Given the description of an element on the screen output the (x, y) to click on. 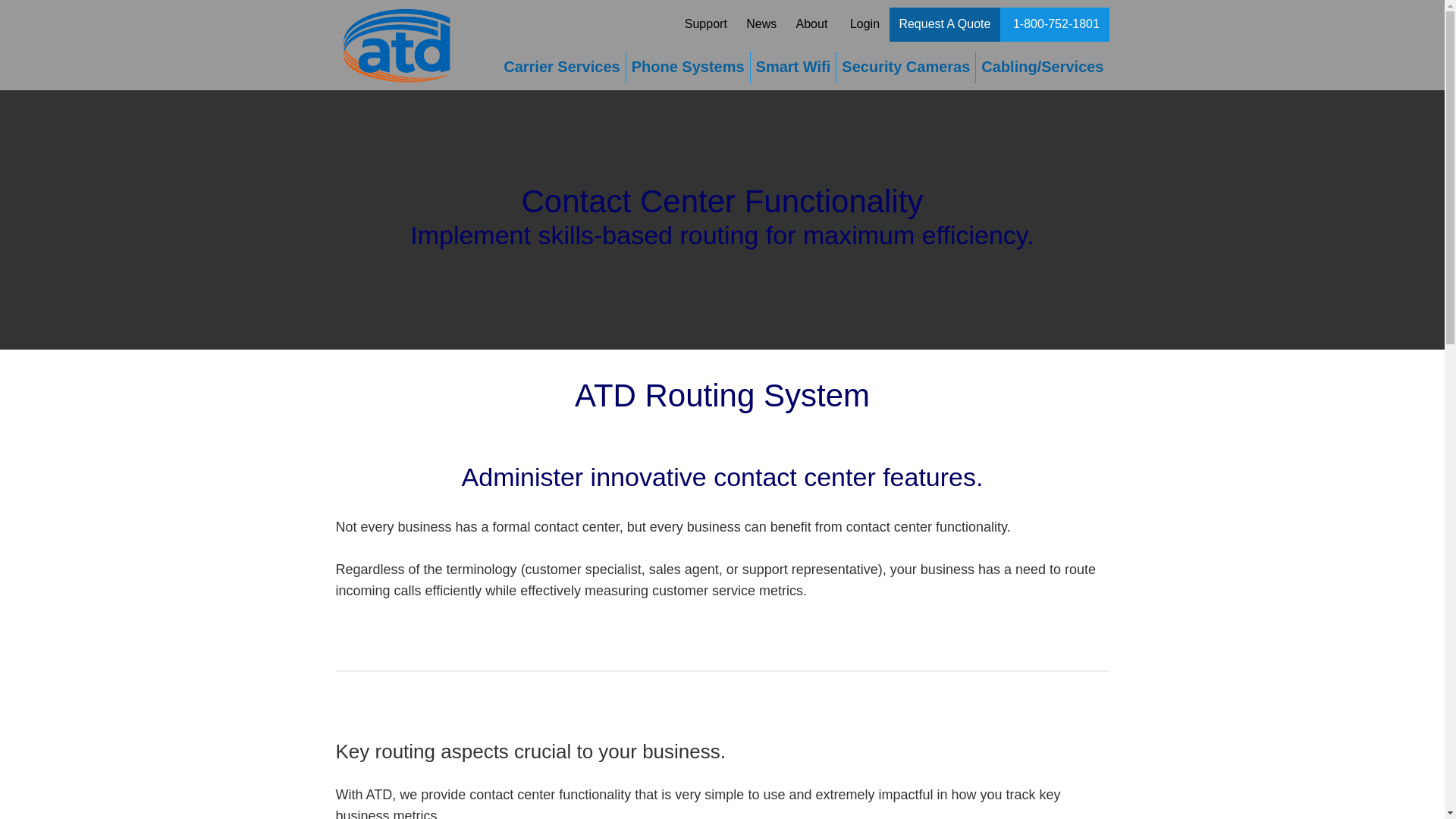
Skip to primary content (567, 59)
